Given the description of an element on the screen output the (x, y) to click on. 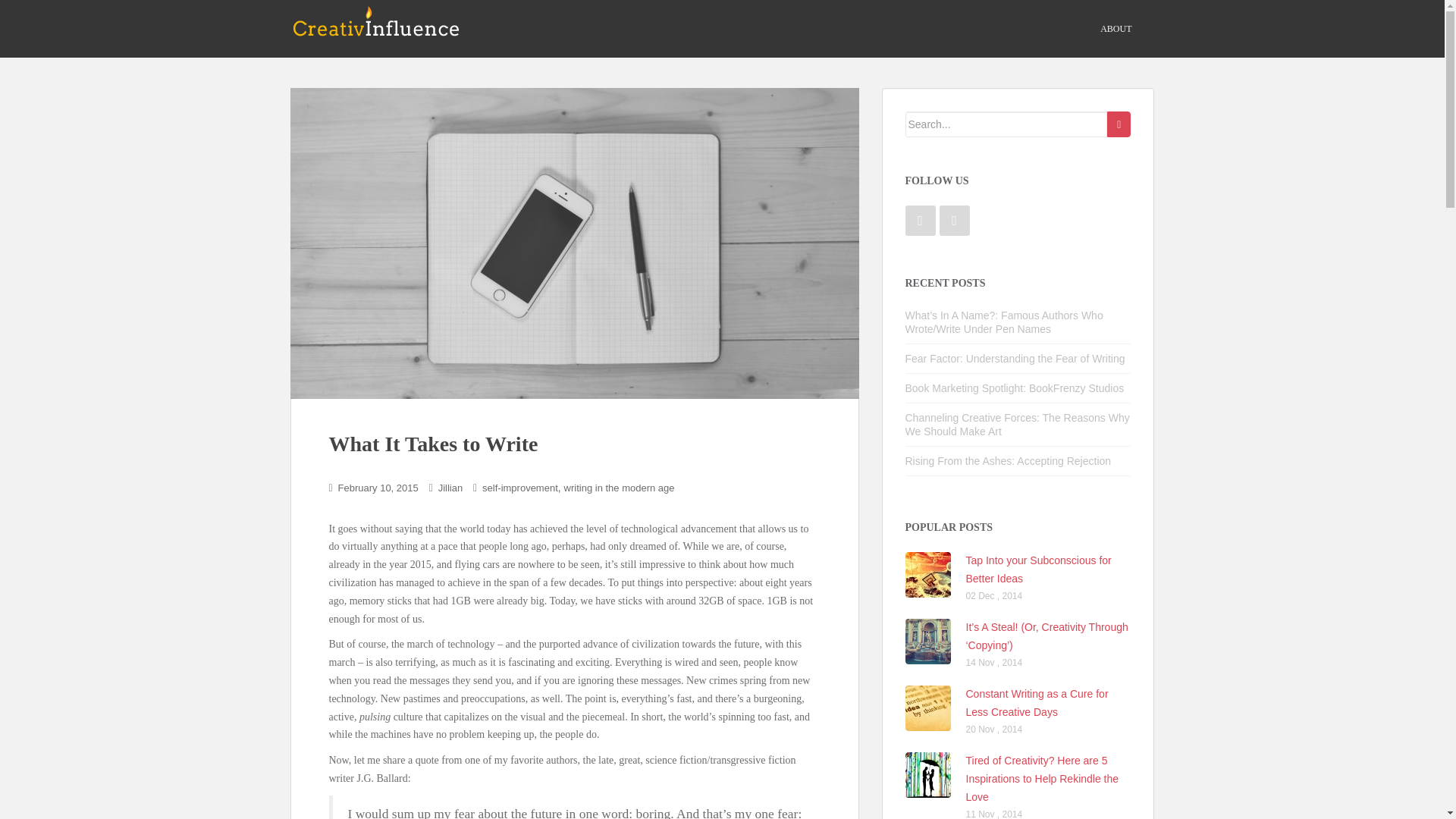
Follow us on Facebok (920, 220)
February 10, 2015 (378, 487)
writing in the modern age (619, 487)
Fear Factor: Understanding the Fear of Writing (1015, 358)
About (1115, 28)
Go (1118, 124)
Jillian (450, 487)
self-improvement (519, 487)
ABOUT (1115, 28)
